Given the description of an element on the screen output the (x, y) to click on. 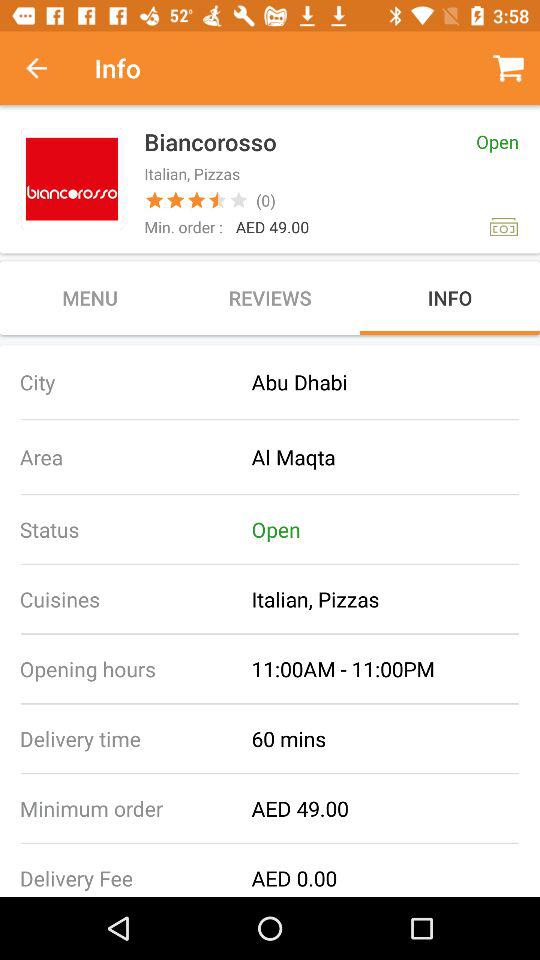
go to previous (47, 68)
